Given the description of an element on the screen output the (x, y) to click on. 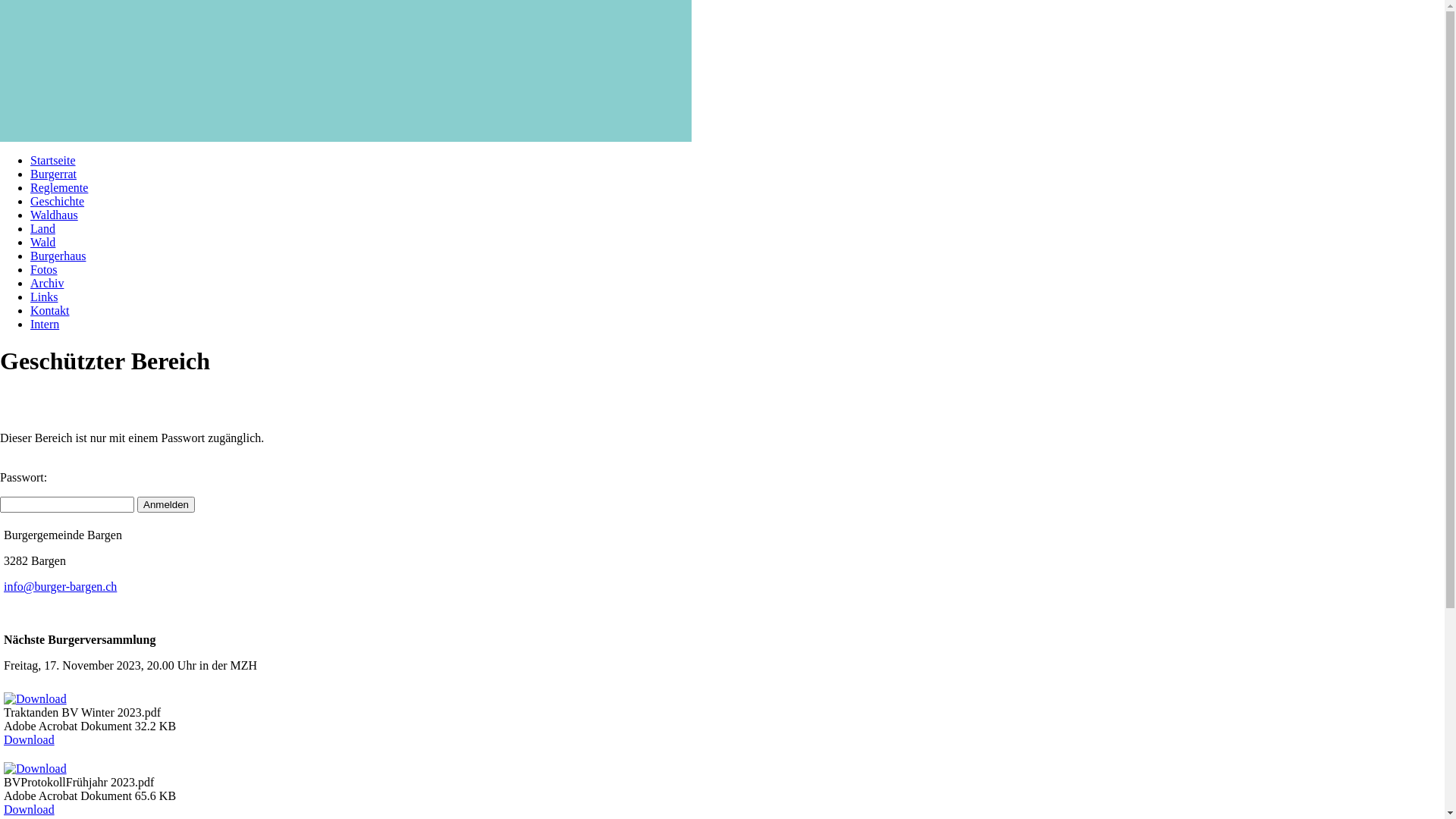
Waldhaus Element type: text (54, 214)
Startseite Element type: text (52, 159)
Reglemente Element type: text (58, 187)
Fotos Element type: text (43, 269)
Geschichte Element type: text (57, 200)
Kontakt Element type: text (49, 310)
Anmelden Element type: text (165, 504)
Burgerrat Element type: text (53, 173)
Wald Element type: text (42, 241)
Download Element type: text (28, 739)
Download Element type: text (28, 809)
Links Element type: text (43, 296)
info@burger-bargen.ch Element type: text (59, 586)
Land Element type: text (42, 228)
Intern Element type: text (44, 323)
Archiv Element type: text (46, 282)
Burgerhaus Element type: text (57, 255)
